Given the description of an element on the screen output the (x, y) to click on. 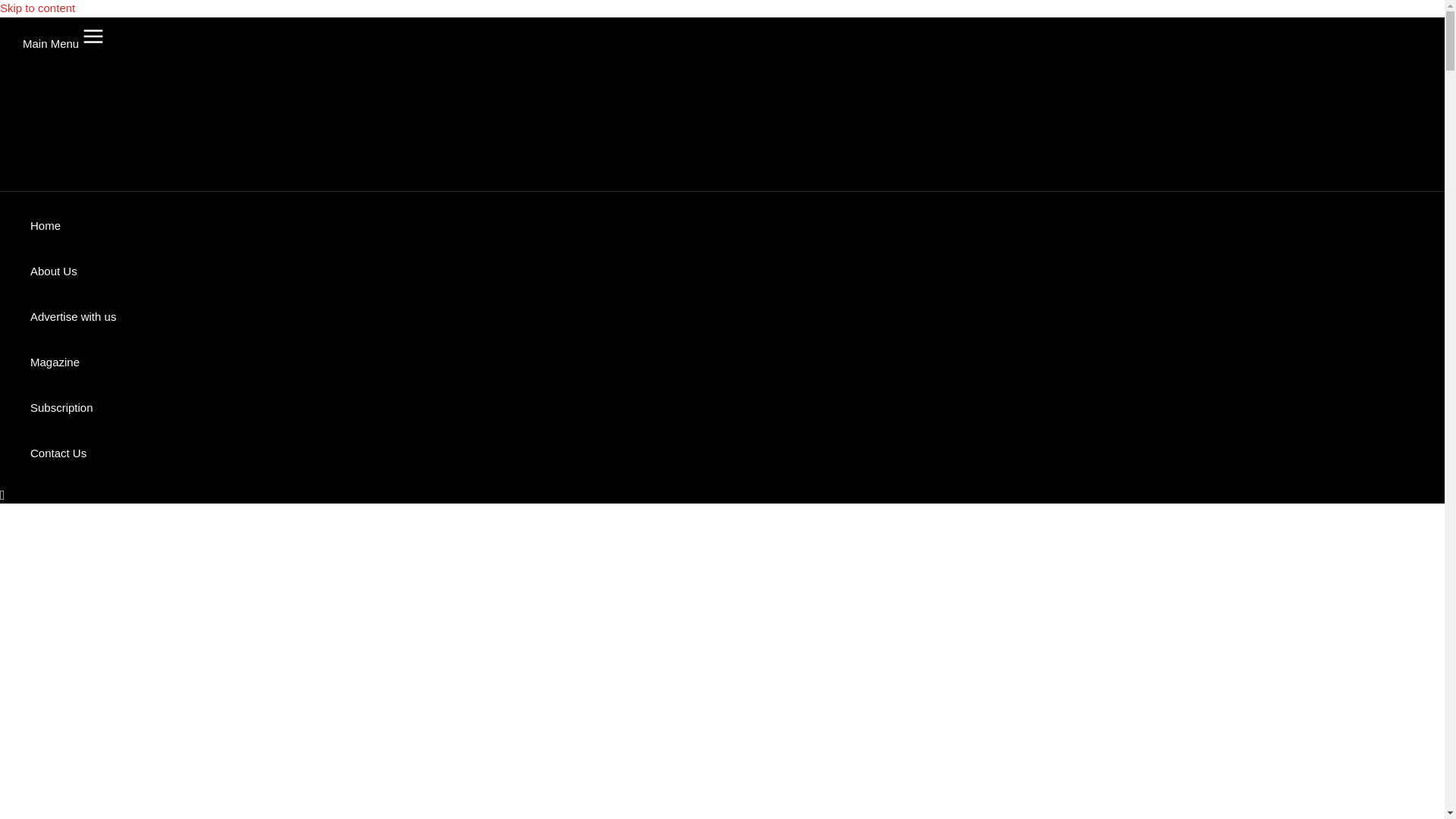
Home (36, 99)
Facebook (278, 660)
Instagram (316, 660)
Twitter (354, 660)
Subscription (371, 99)
Linkedin (240, 660)
Contact Us (453, 99)
Main Menu (43, 37)
Youtube (392, 660)
